Given the description of an element on the screen output the (x, y) to click on. 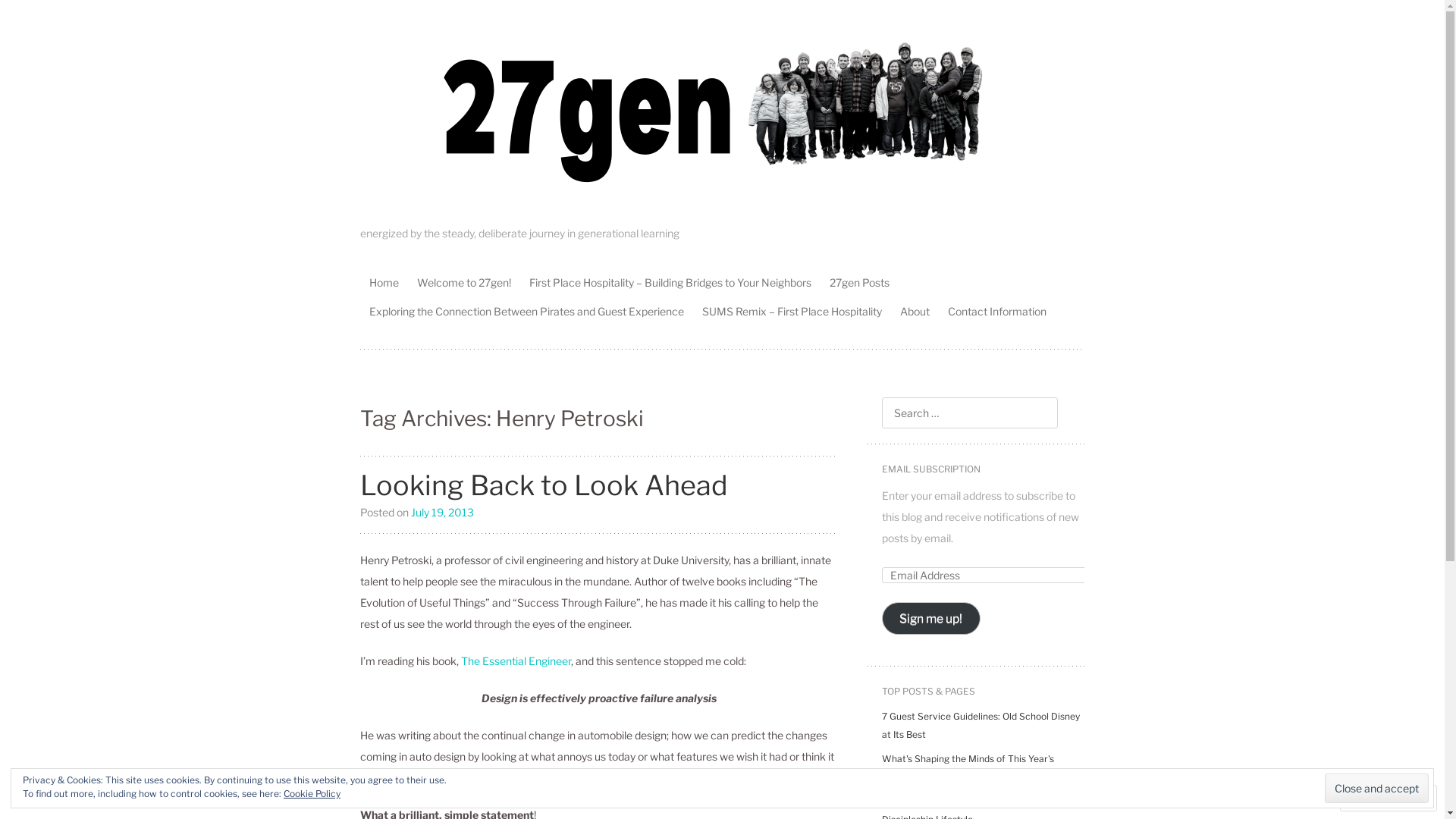
July 19, 2013 Element type: text (442, 511)
Contact Information Element type: text (996, 310)
27gen Posts Element type: text (859, 281)
Home Element type: text (383, 281)
7 Guest Service Guidelines: Old School Disney at Its Best Element type: text (980, 725)
Close and accept Element type: text (1376, 788)
Follow Element type: text (1374, 797)
About Element type: text (914, 310)
Cookie Policy Element type: text (311, 793)
Search Element type: text (29, 15)
Sign me up! Element type: text (930, 618)
Welcome to 27gen! Element type: text (464, 281)
The Essential Engineer Element type: text (516, 659)
Looking Back to Look Ahead Element type: text (544, 485)
